Given the description of an element on the screen output the (x, y) to click on. 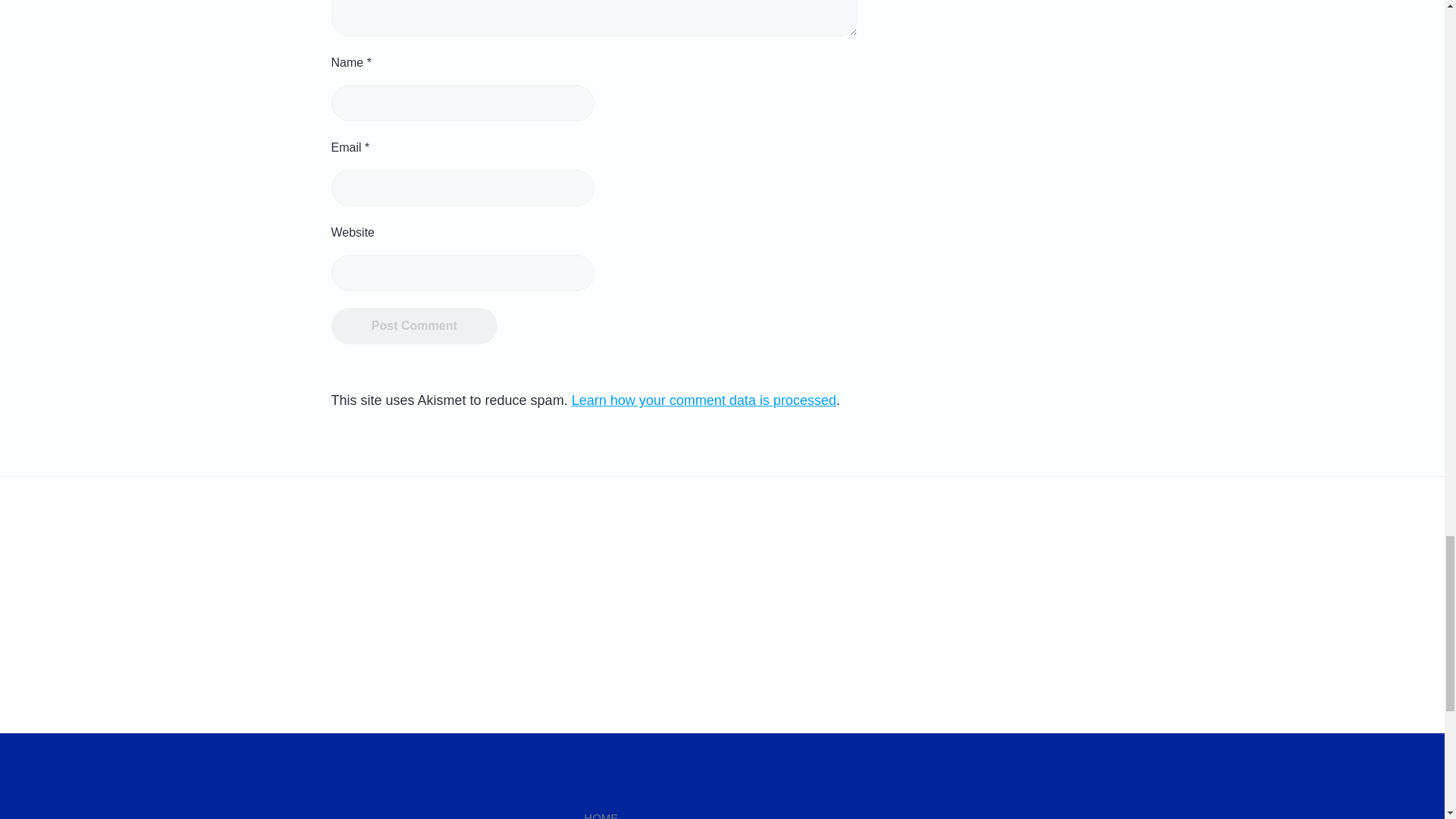
Post Comment (413, 325)
